Given the description of an element on the screen output the (x, y) to click on. 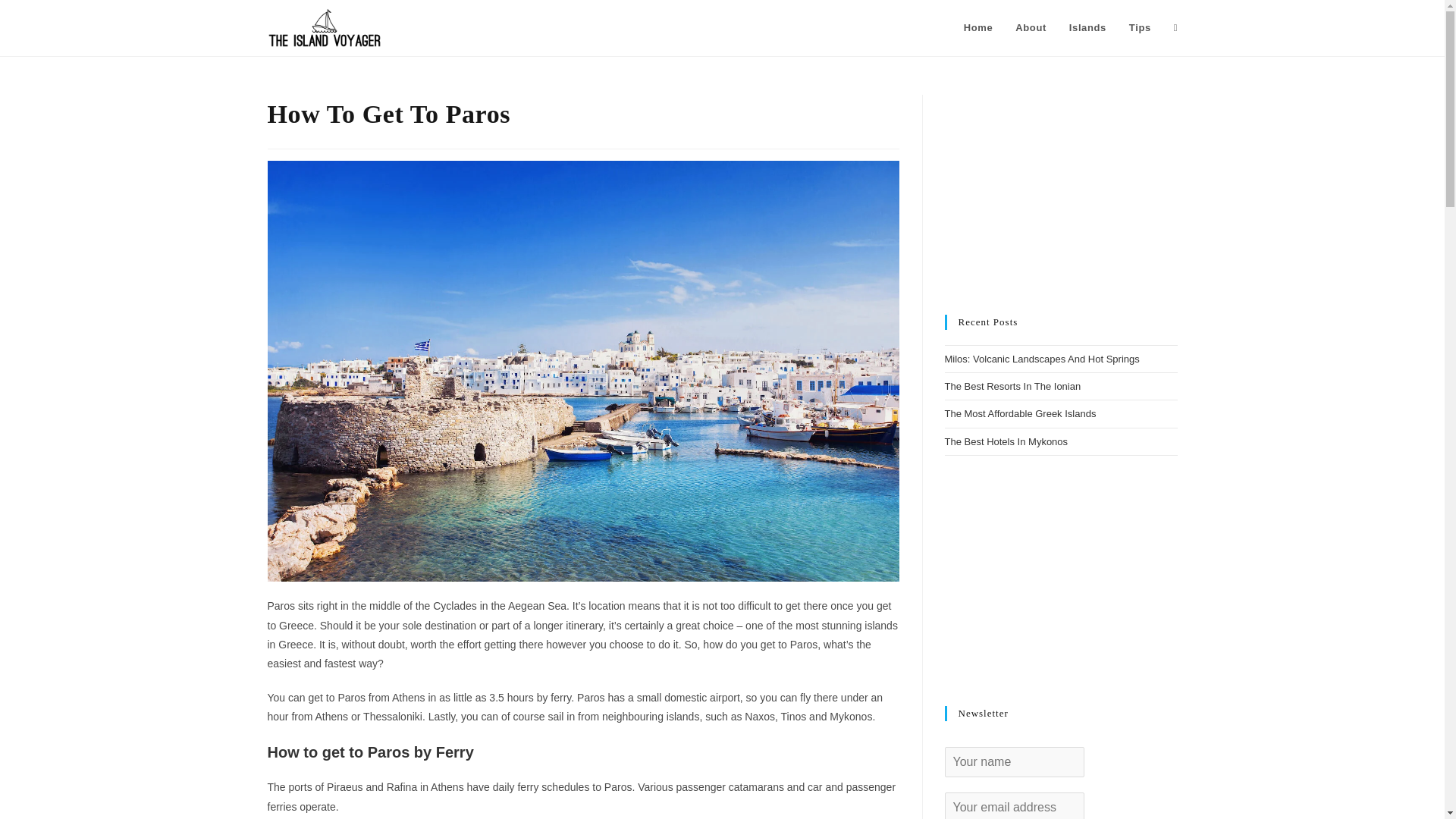
The Best Resorts In The Ionian (1012, 386)
Milos: Volcanic Landscapes And Hot Springs (1042, 358)
Home (978, 28)
The Most Affordable Greek Islands (1020, 413)
About (1031, 28)
Islands (1088, 28)
Advertisement (1060, 580)
Advertisement (1060, 189)
The Best Hotels In Mykonos (1006, 441)
